Given the description of an element on the screen output the (x, y) to click on. 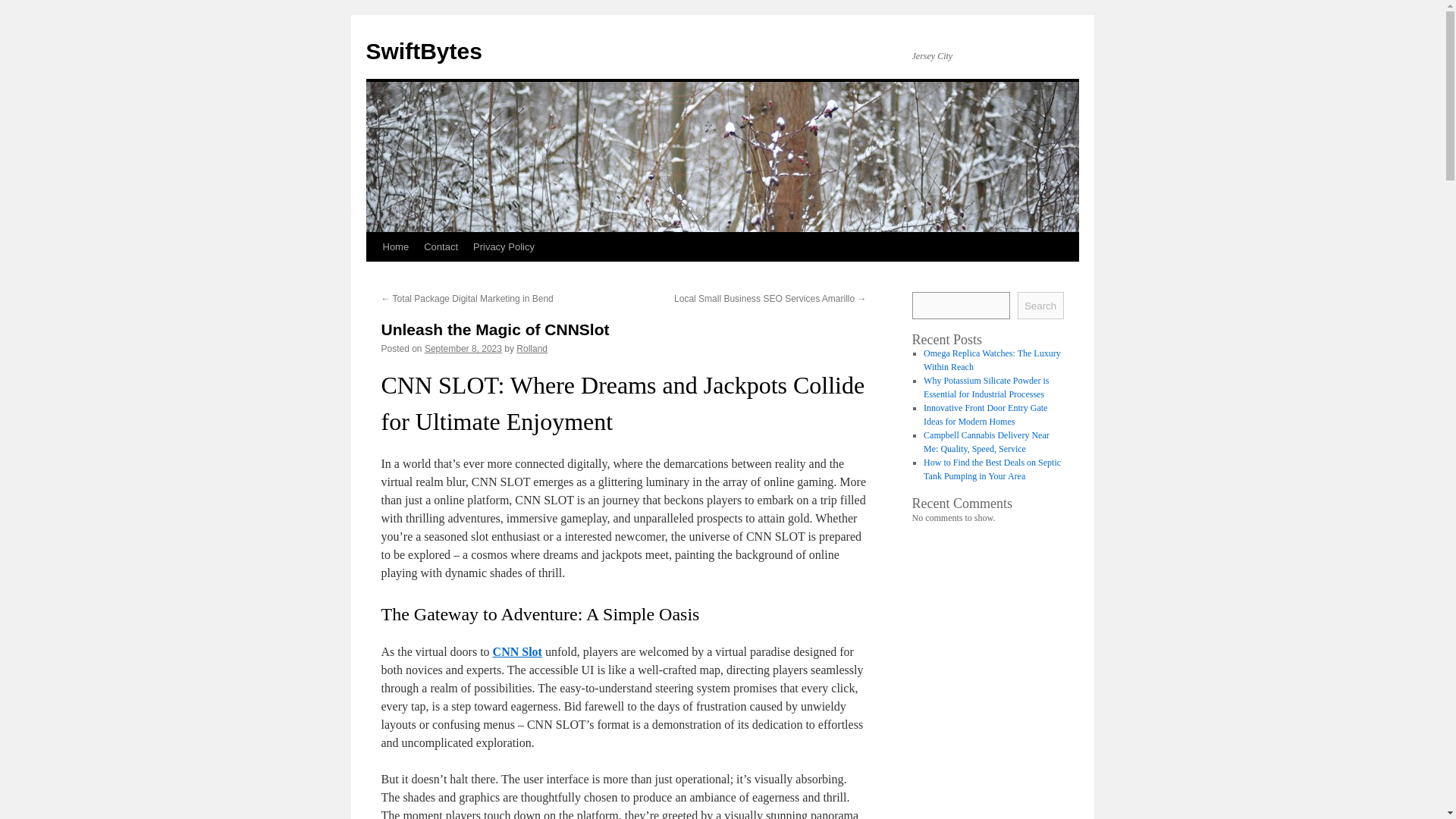
Home (395, 246)
Search (1040, 305)
SwiftBytes (423, 50)
Privacy Policy (503, 246)
View all posts by Rolland (531, 348)
7:46 pm (463, 348)
CNN Slot (517, 651)
Contact (440, 246)
